Given the description of an element on the screen output the (x, y) to click on. 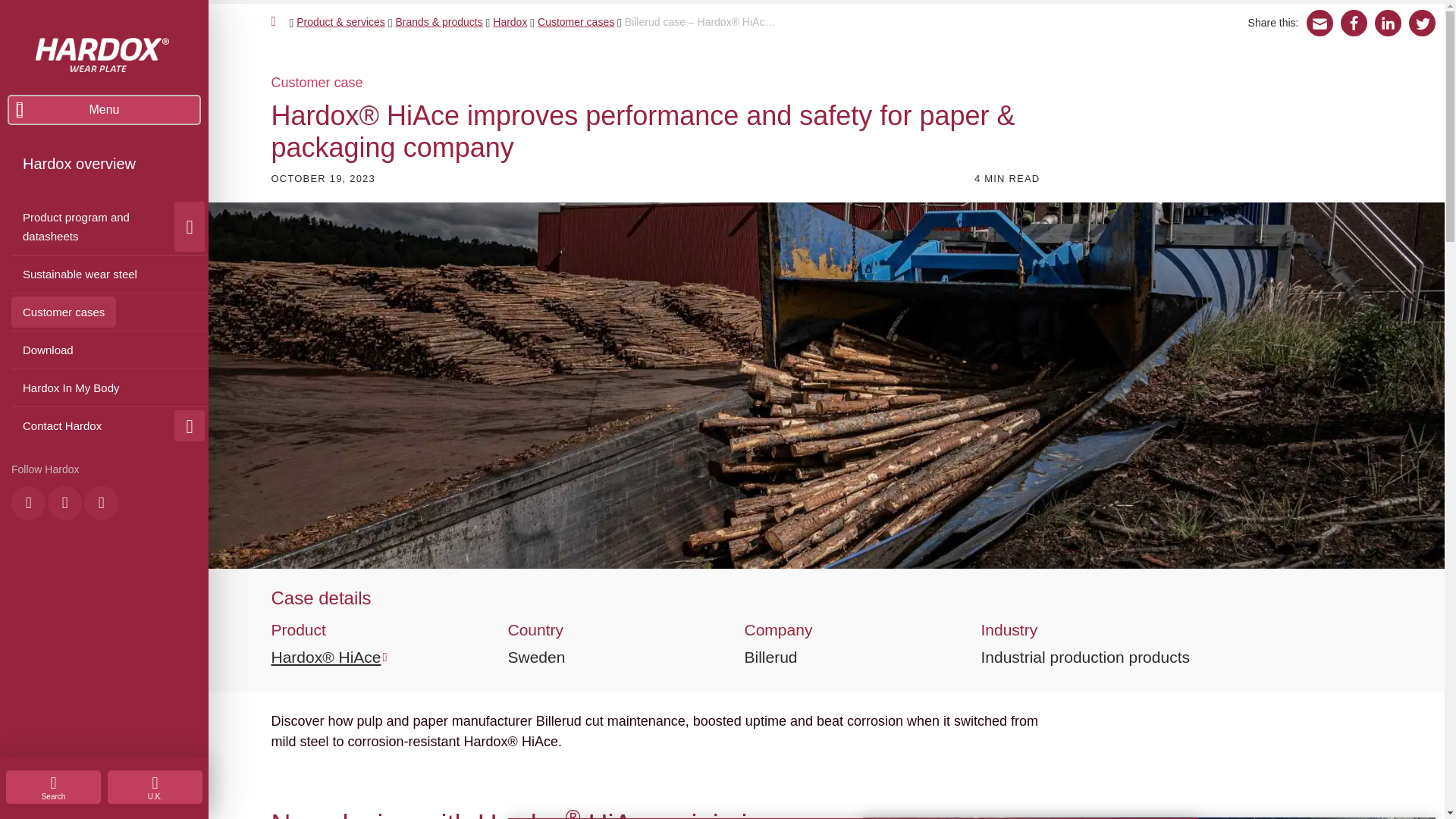
Customer cases (63, 311)
Contact Hardox (115, 425)
Download (47, 349)
Menu (103, 110)
Hardox overview (79, 163)
Search (52, 786)
Sustainable wear steel (79, 273)
U.K. (154, 786)
Product program and datasheets (89, 226)
Hardox In My Body (71, 387)
